Given the description of an element on the screen output the (x, y) to click on. 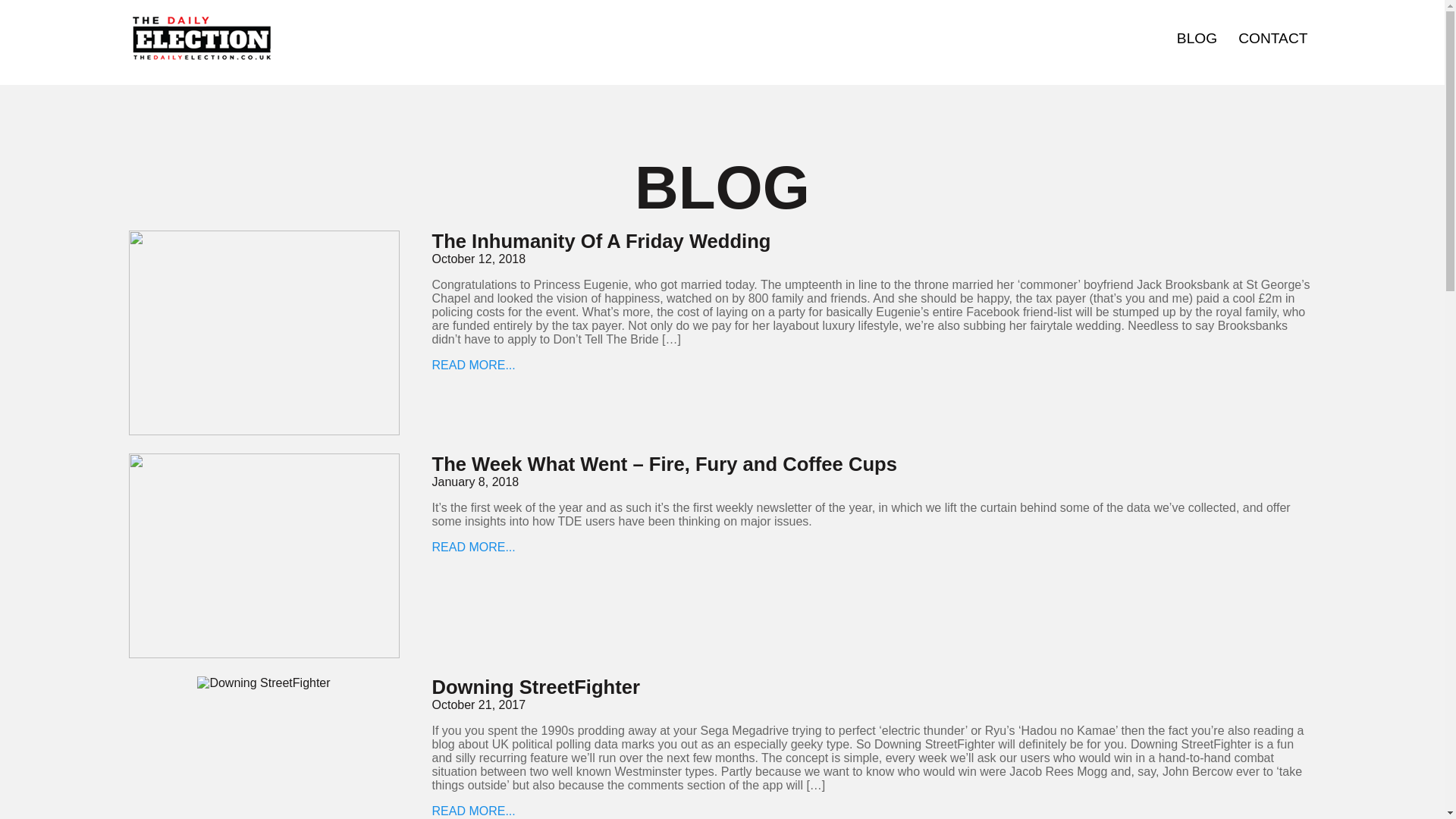
The Inhumanity Of A Friday Wedding (601, 240)
READ MORE... (473, 546)
BLOG (1196, 38)
READ MORE... (473, 364)
READ MORE... (473, 810)
CONTACT (1272, 38)
Downing StreetFighter (536, 686)
